Given the description of an element on the screen output the (x, y) to click on. 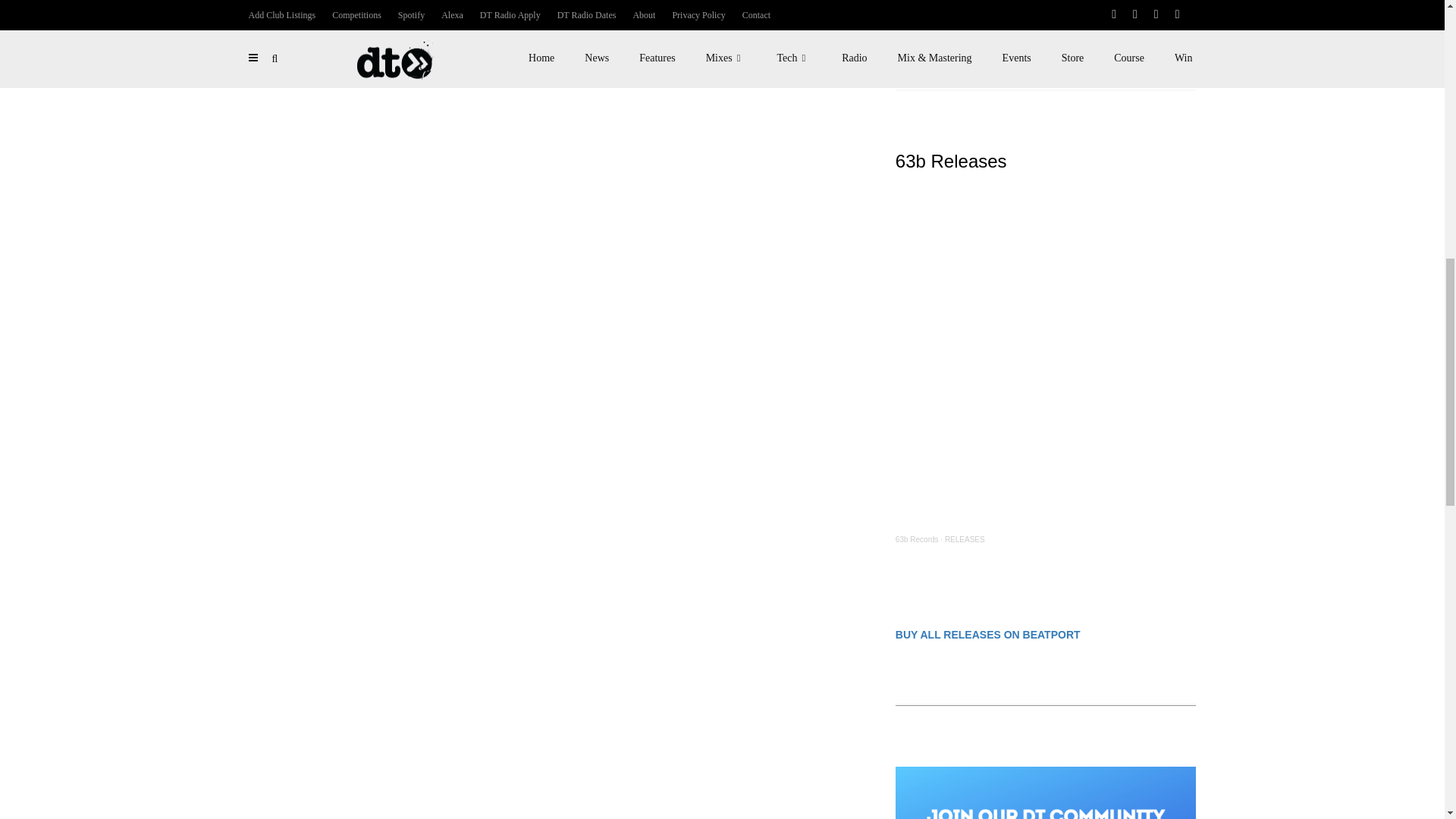
Official Releases (992, 24)
Data Transmission (926, 24)
63b Records (917, 539)
RELEASES (964, 539)
